Given the description of an element on the screen output the (x, y) to click on. 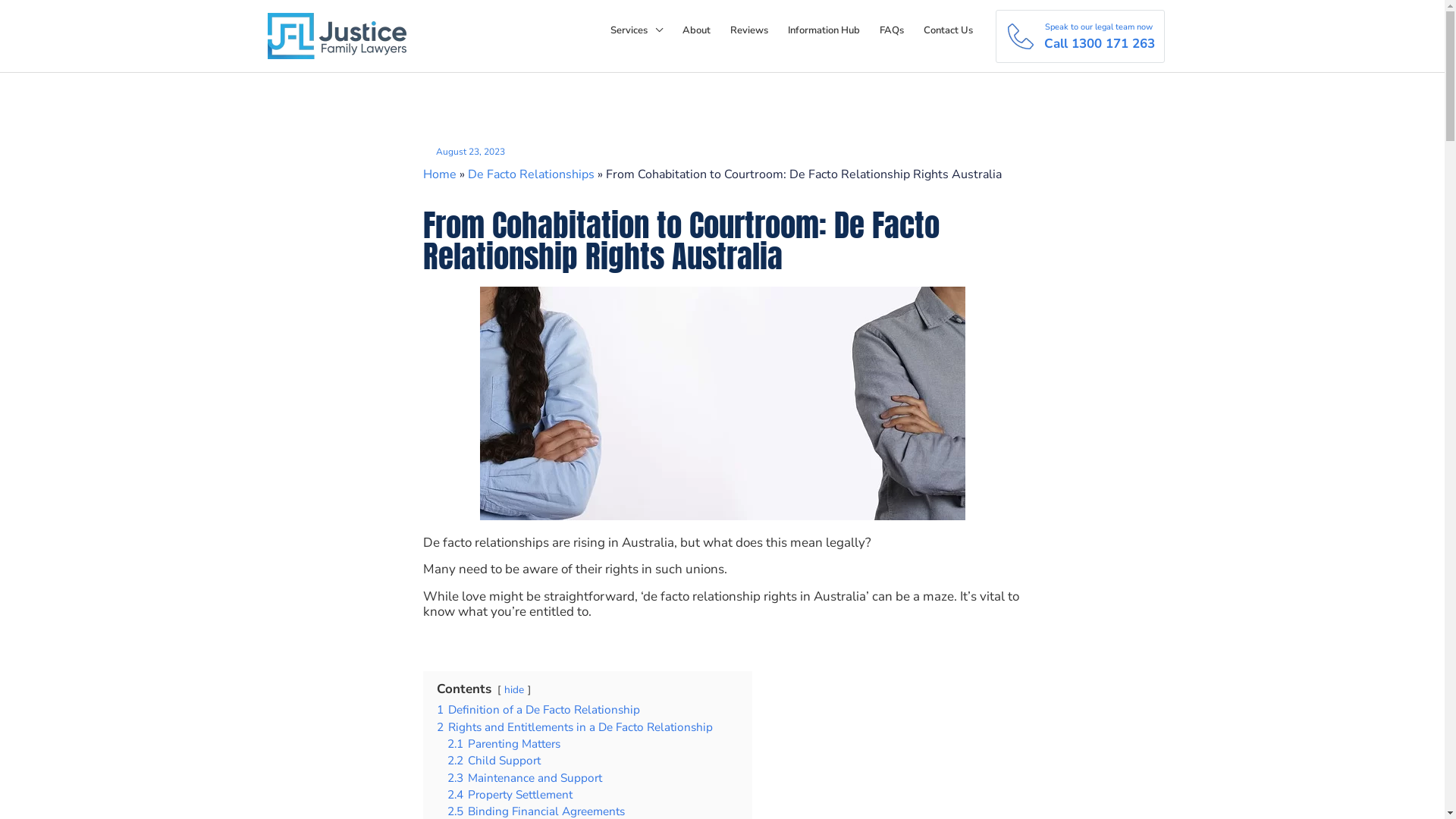
Contact Us Element type: text (947, 30)
FAQs Element type: text (891, 30)
Speak to our legal team now
Call 1300 171 263 Element type: text (1079, 35)
2.4 Property Settlement Element type: text (509, 794)
2.3 Maintenance and Support Element type: text (524, 777)
De Facto Relationships Element type: text (530, 174)
Reviews Element type: text (749, 30)
1 Definition of a De Facto Relationship Element type: text (538, 709)
hide Element type: text (513, 689)
About Element type: text (695, 30)
August 23, 2023 Element type: text (464, 151)
Home Element type: text (439, 174)
2.1 Parenting Matters Element type: text (503, 743)
Information Hub Element type: text (823, 30)
2 Rights and Entitlements in a De Facto Relationship Element type: text (574, 726)
2.2 Child Support Element type: text (493, 760)
Services Element type: text (636, 30)
